Given the description of an element on the screen output the (x, y) to click on. 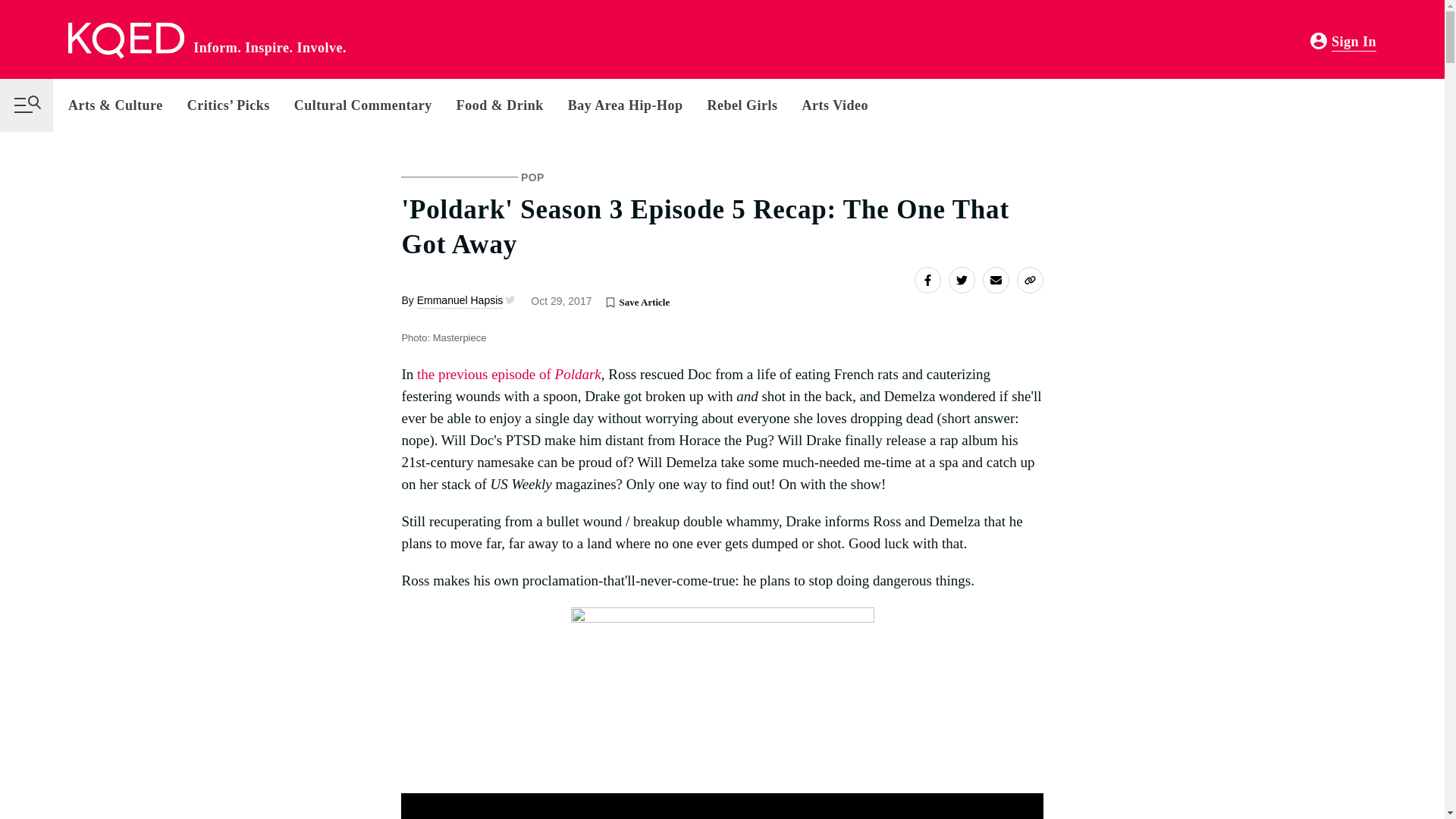
Emmanuel Hapsis on Twitter (508, 300)
KQED (126, 40)
KQED (126, 40)
Save Article (610, 302)
